Given the description of an element on the screen output the (x, y) to click on. 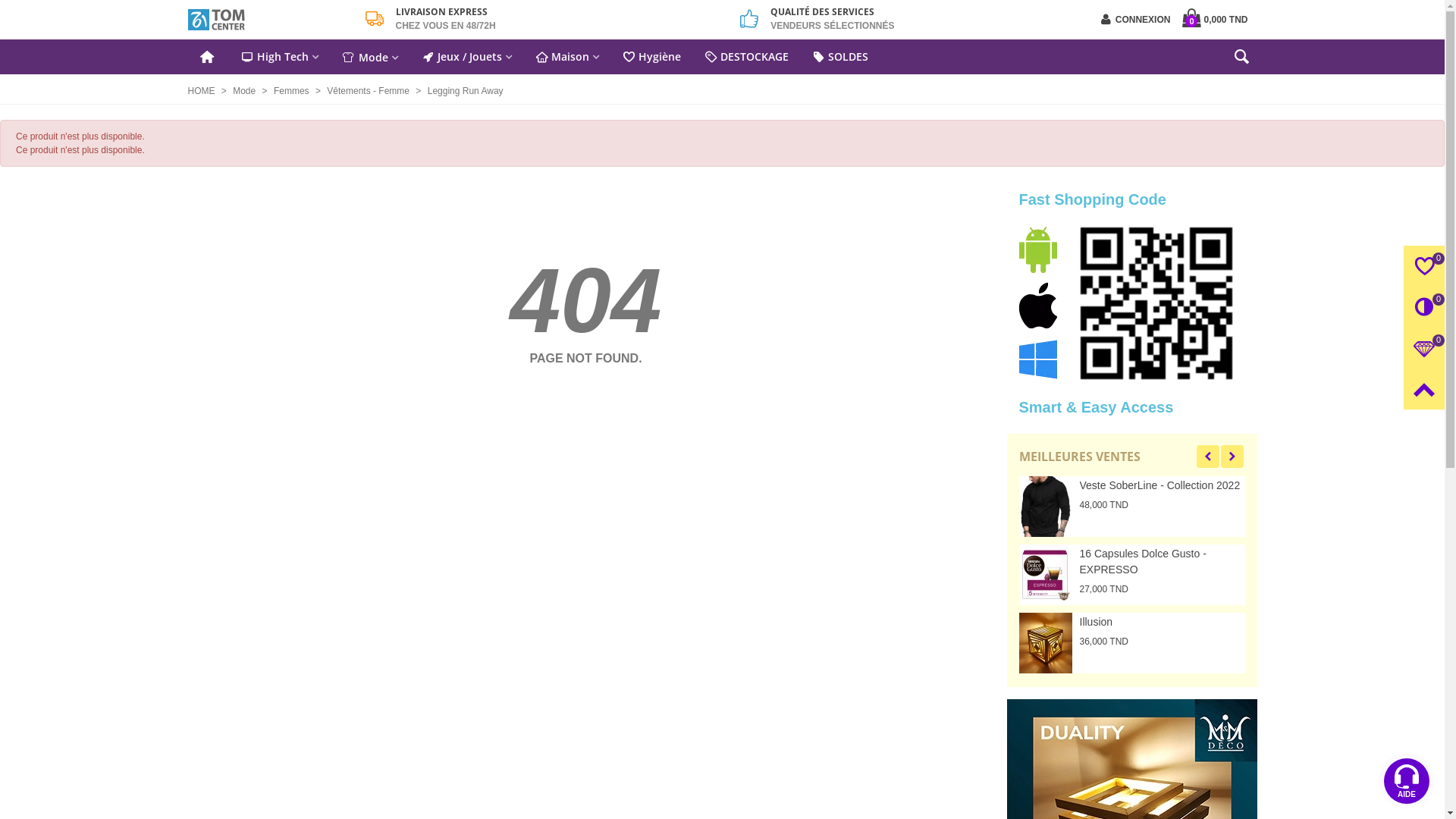
16 Capsules Dolce Gusto - EXPRESSO Element type: text (936, 561)
UrbanPants - Fresh Licra Element type: text (1162, 553)
0
0,000 TND Element type: text (1216, 19)
HOME Element type: text (202, 90)
High Tech Element type: text (279, 56)
Maison Element type: text (567, 56)
16 Capsules Dolce Gusto - EXPRESSO Element type: hover (1045, 574)
0 Element type: text (1423, 347)
Mode Element type: text (370, 56)
0 Element type: text (1423, 306)
0 Element type: text (1423, 265)
Femmes Element type: text (292, 90)
SOLDES Element type: text (840, 56)
Jeux / Jouets Element type: text (467, 56)
TOM Center Element type: hover (271, 19)
Mode Element type: text (244, 90)
Chercher Element type: hover (1242, 59)
DESTOCKAGE Element type: text (746, 56)
Illusion Element type: text (936, 622)
CONNEXION Element type: text (1135, 19)
Illusion Element type: hover (1045, 642)
Veste SoberLine - Collection 2022 Element type: text (936, 485)
Veste SoberLine - Collection 2022 Element type: hover (1045, 506)
 Go Top Element type: hover (1423, 388)
MEILLEURES VENTES Element type: text (1082, 456)
